Given the description of an element on the screen output the (x, y) to click on. 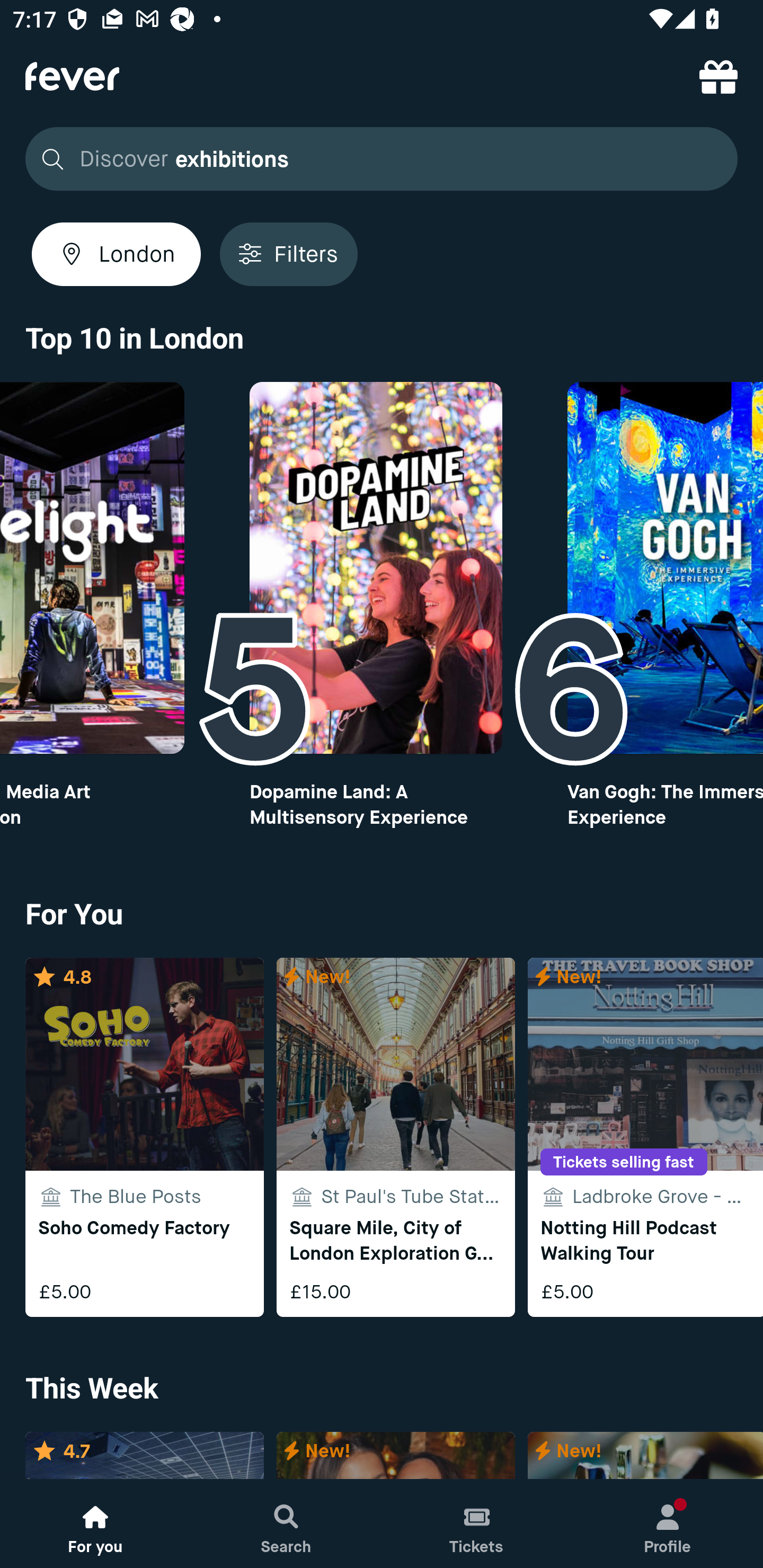
referral (718, 75)
Discover exhibitions (381, 158)
Discover exhibitions (376, 158)
London (116, 253)
Filters (288, 253)
Top10 image (92, 568)
Top10 image (375, 568)
Top10 image (665, 568)
Search (285, 1523)
Tickets (476, 1523)
Profile, New notification Profile (667, 1523)
